Given the description of an element on the screen output the (x, y) to click on. 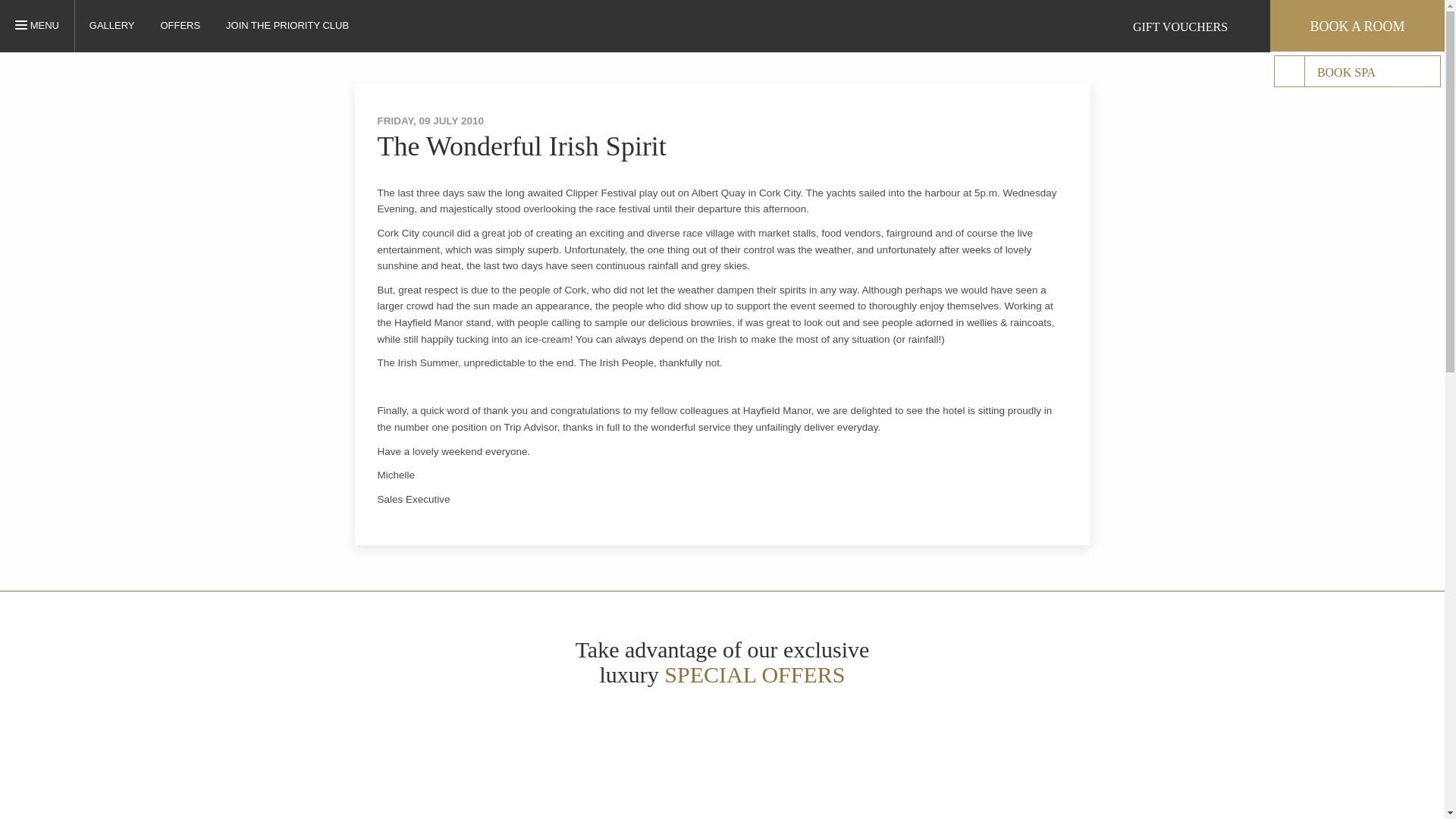
JOIN THE PRIORITY CLUB (286, 25)
Gift Vouchers GIFT VOUCHERS (1182, 25)
Gift Vouchers (1114, 25)
Book Spa (1289, 71)
Book Spa BOOK SPA (1357, 70)
GALLERY (112, 25)
GIFT VOUCHERS (379, 23)
OFFERS (44, 26)
